Given the description of an element on the screen output the (x, y) to click on. 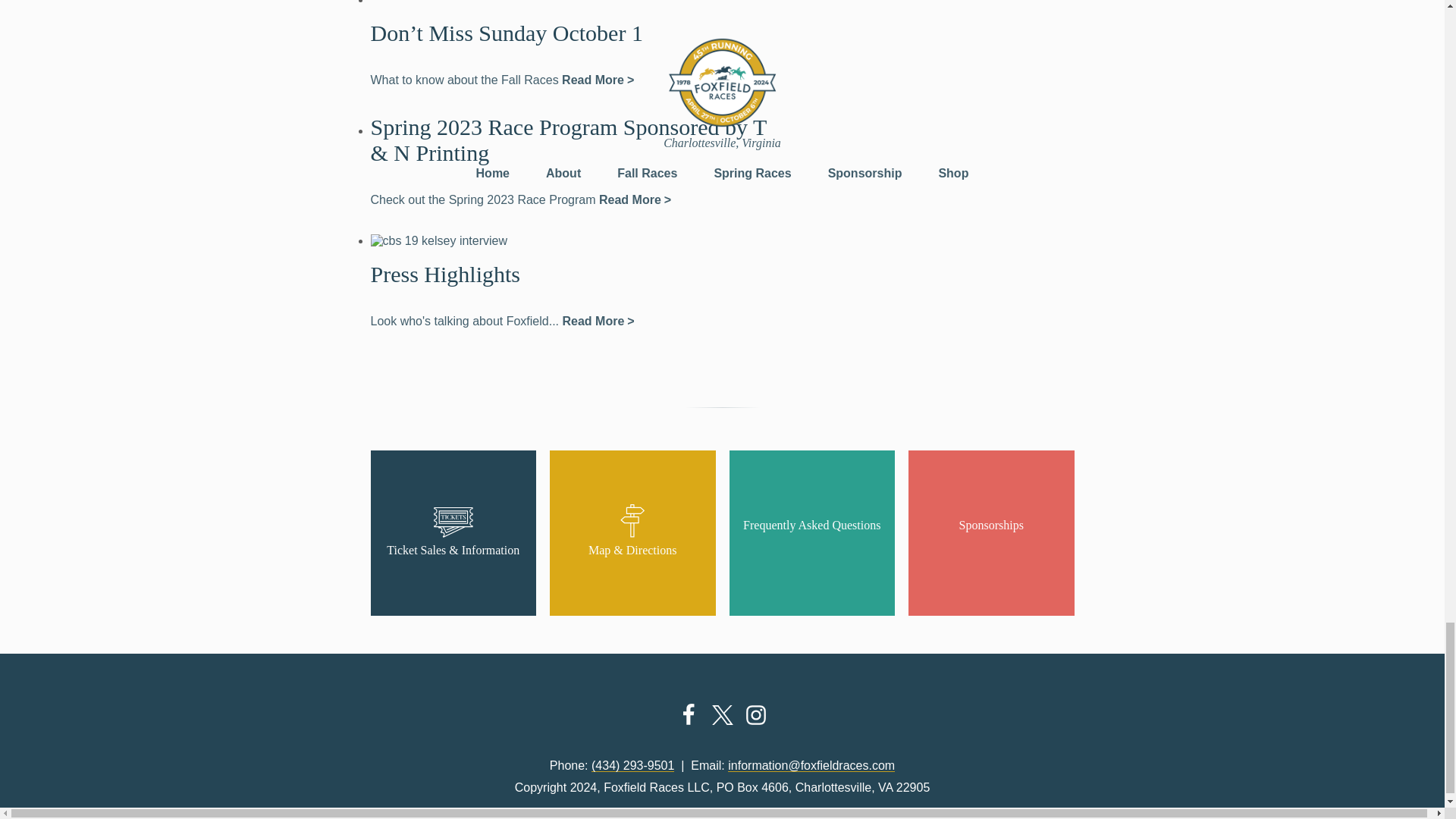
Screenshot 2023-04-20 at 9.23.37 AM (437, 241)
Read More (634, 199)
Read More (597, 79)
